Given the description of an element on the screen output the (x, y) to click on. 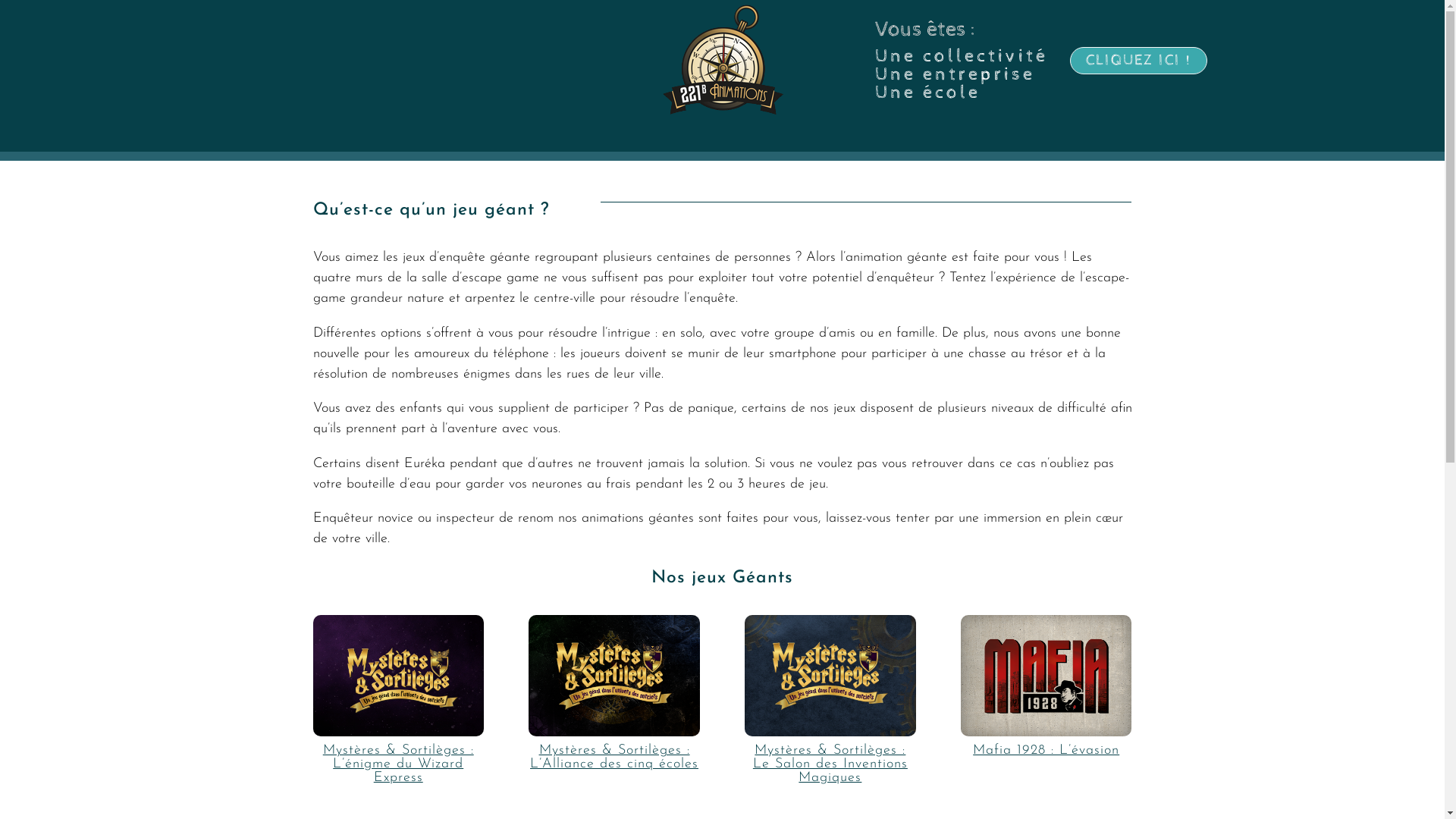
CLIQUEZ ICI ! Element type: text (1138, 60)
